Given the description of an element on the screen output the (x, y) to click on. 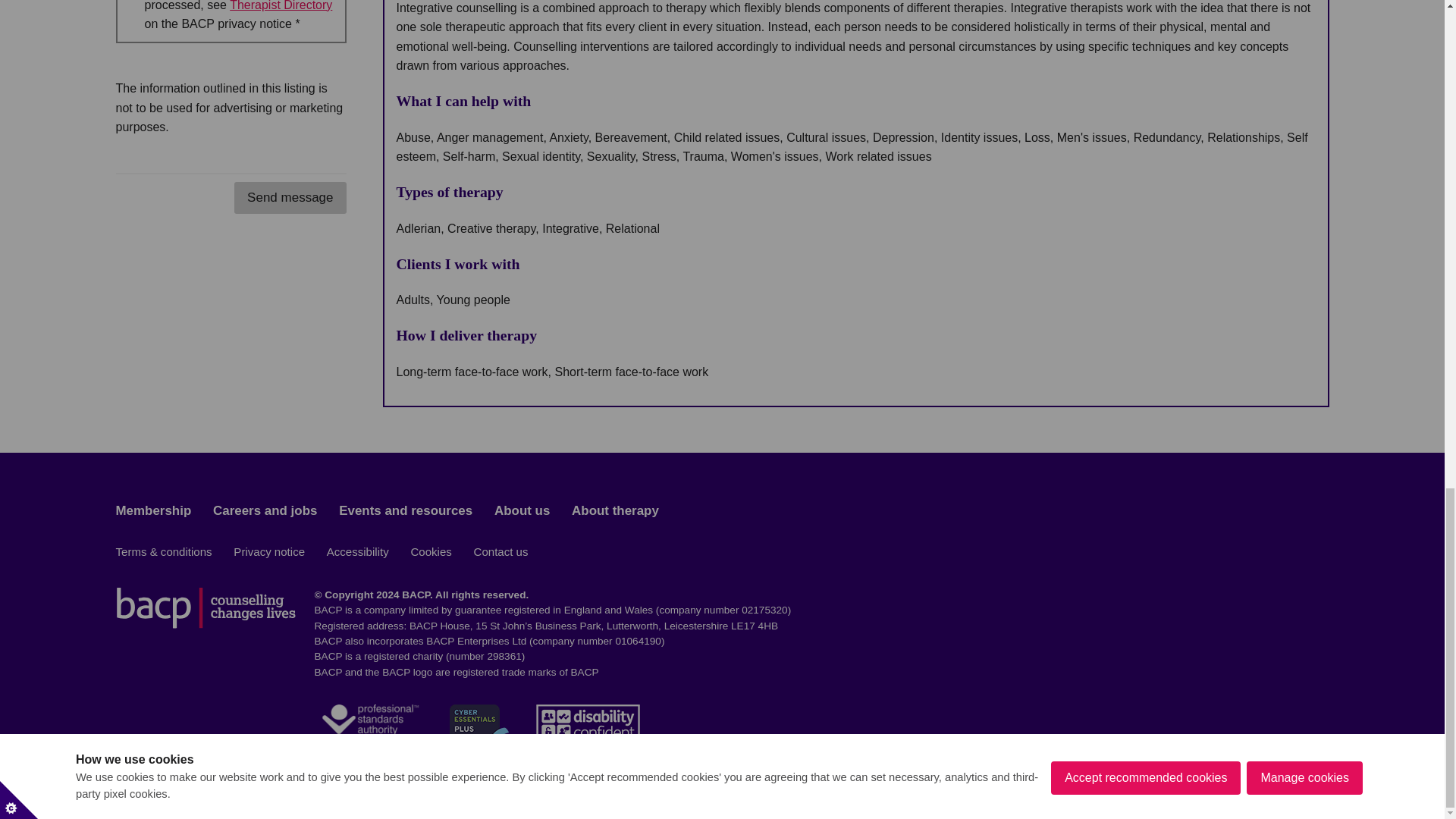
Privacy (280, 5)
